Given the description of an element on the screen output the (x, y) to click on. 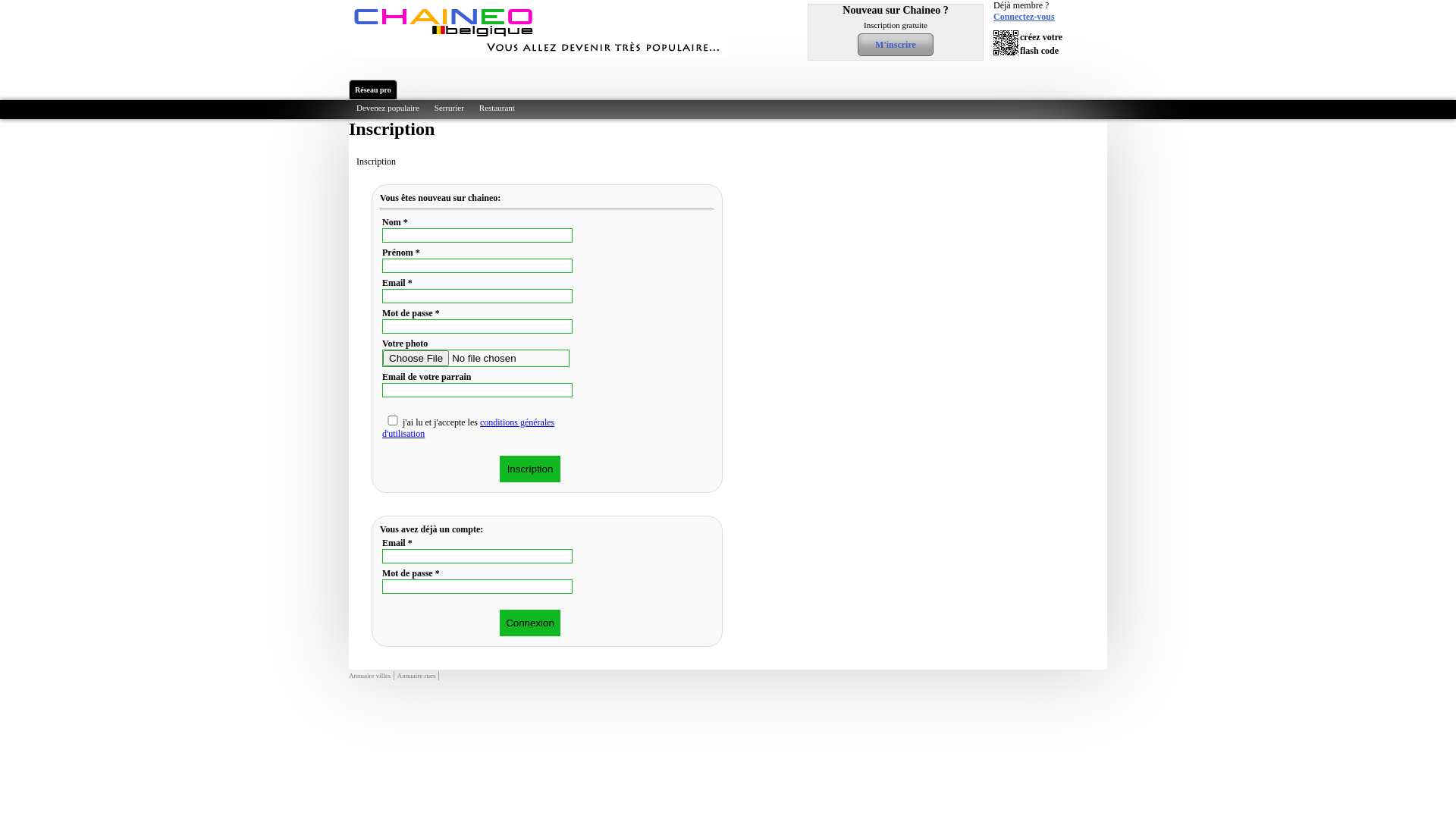
Restaurant Element type: text (496, 107)
Devenez populaire Element type: text (387, 107)
M'inscrire Element type: text (895, 44)
Serrurier Element type: text (448, 107)
Annuaire villes Element type: text (369, 675)
Inscription Element type: text (529, 468)
Connexion Element type: text (529, 622)
Annuaire rues Element type: text (416, 675)
